Given the description of an element on the screen output the (x, y) to click on. 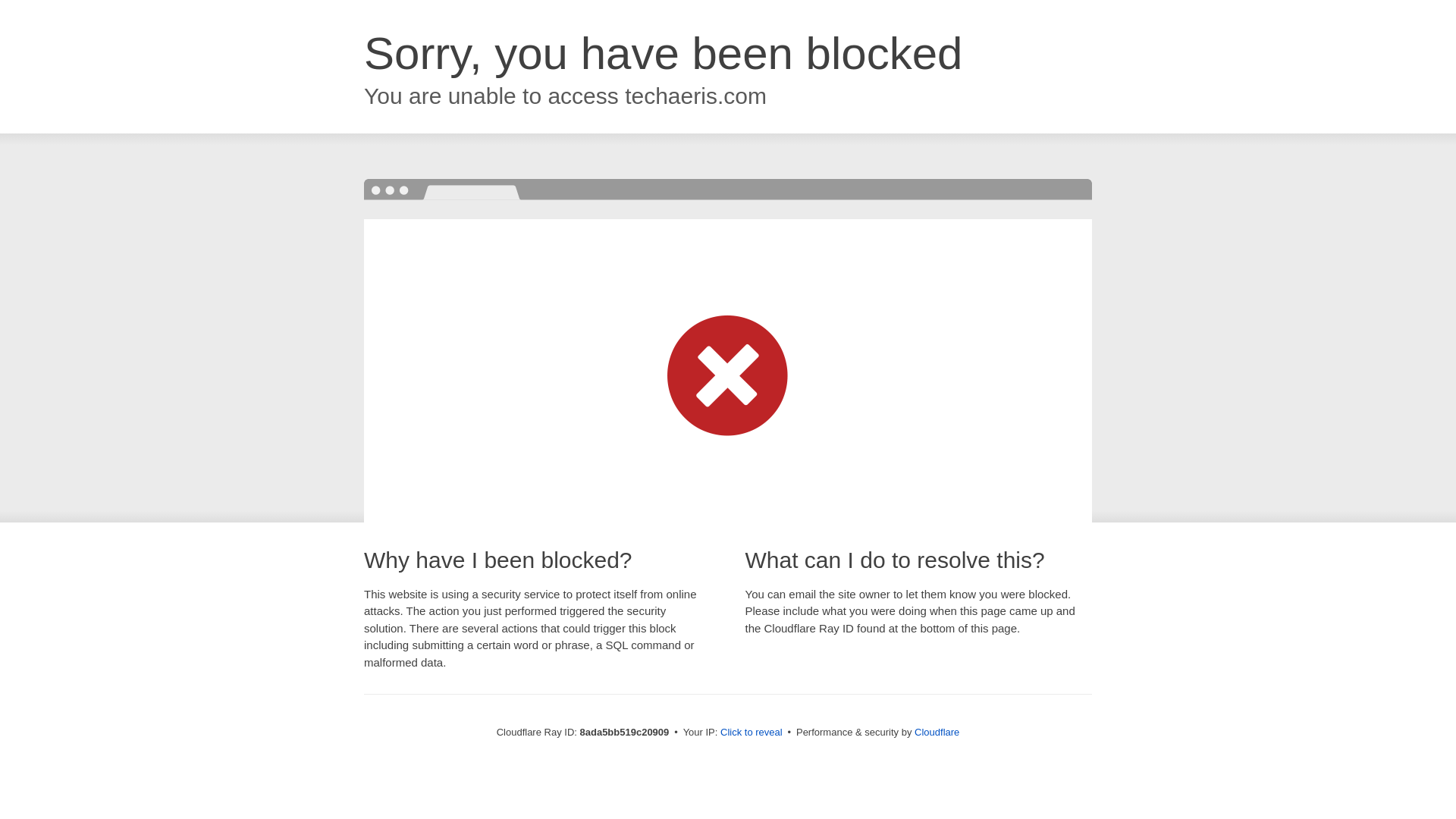
Cloudflare (936, 731)
Click to reveal (751, 732)
